Given the description of an element on the screen output the (x, y) to click on. 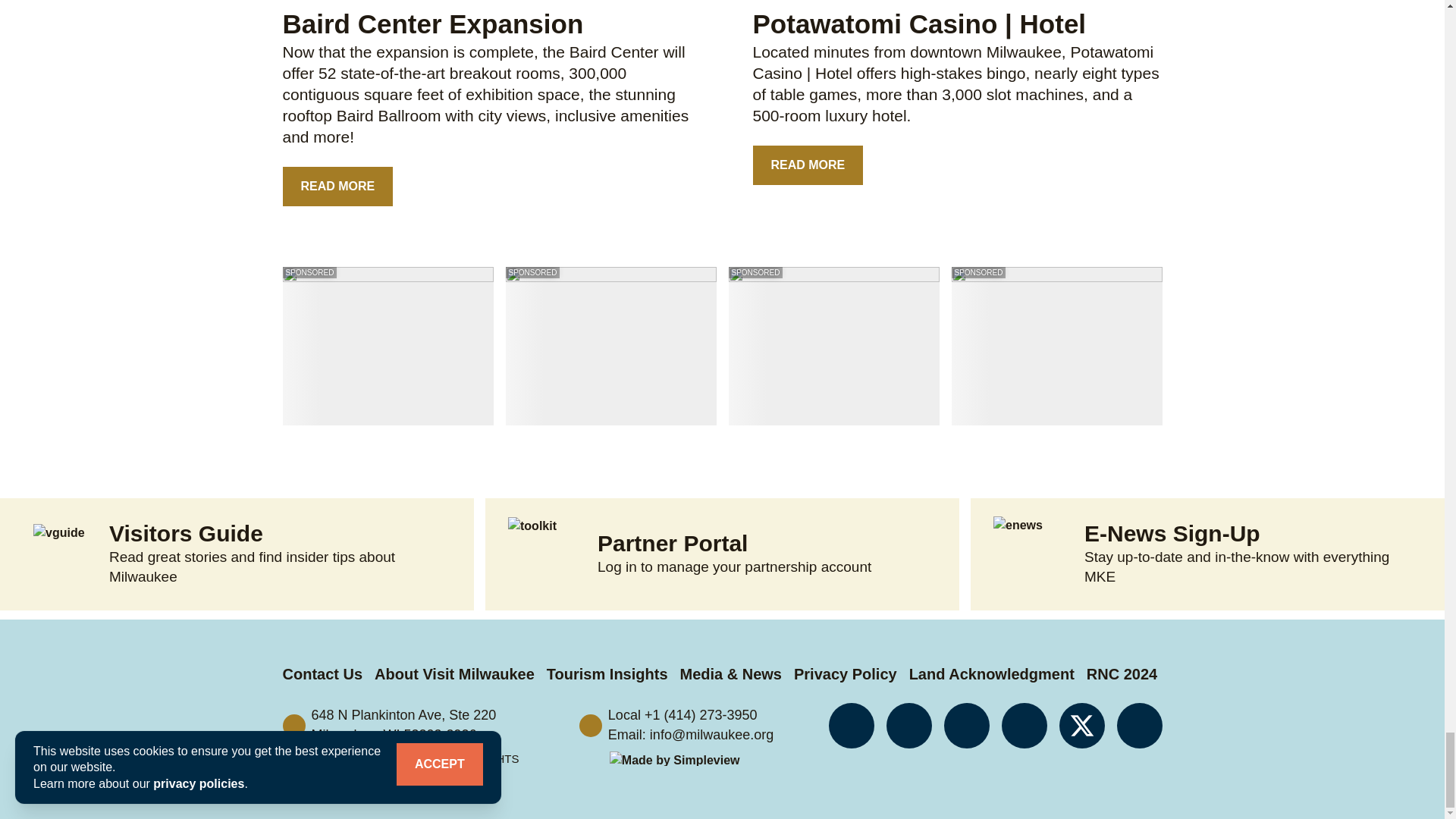
Tourism Insights (607, 673)
Privacy Policy (844, 673)
Land Acknowledgment (991, 673)
Visit our tiktok page (1023, 725)
Visit our facebook page (850, 725)
Visit our linkedin page (965, 725)
RNC 2024 (1121, 673)
Visit our x page (1080, 725)
About Visit Milwaukee (454, 673)
Visit our instagram page (908, 725)
Contact Us (322, 673)
